Given the description of an element on the screen output the (x, y) to click on. 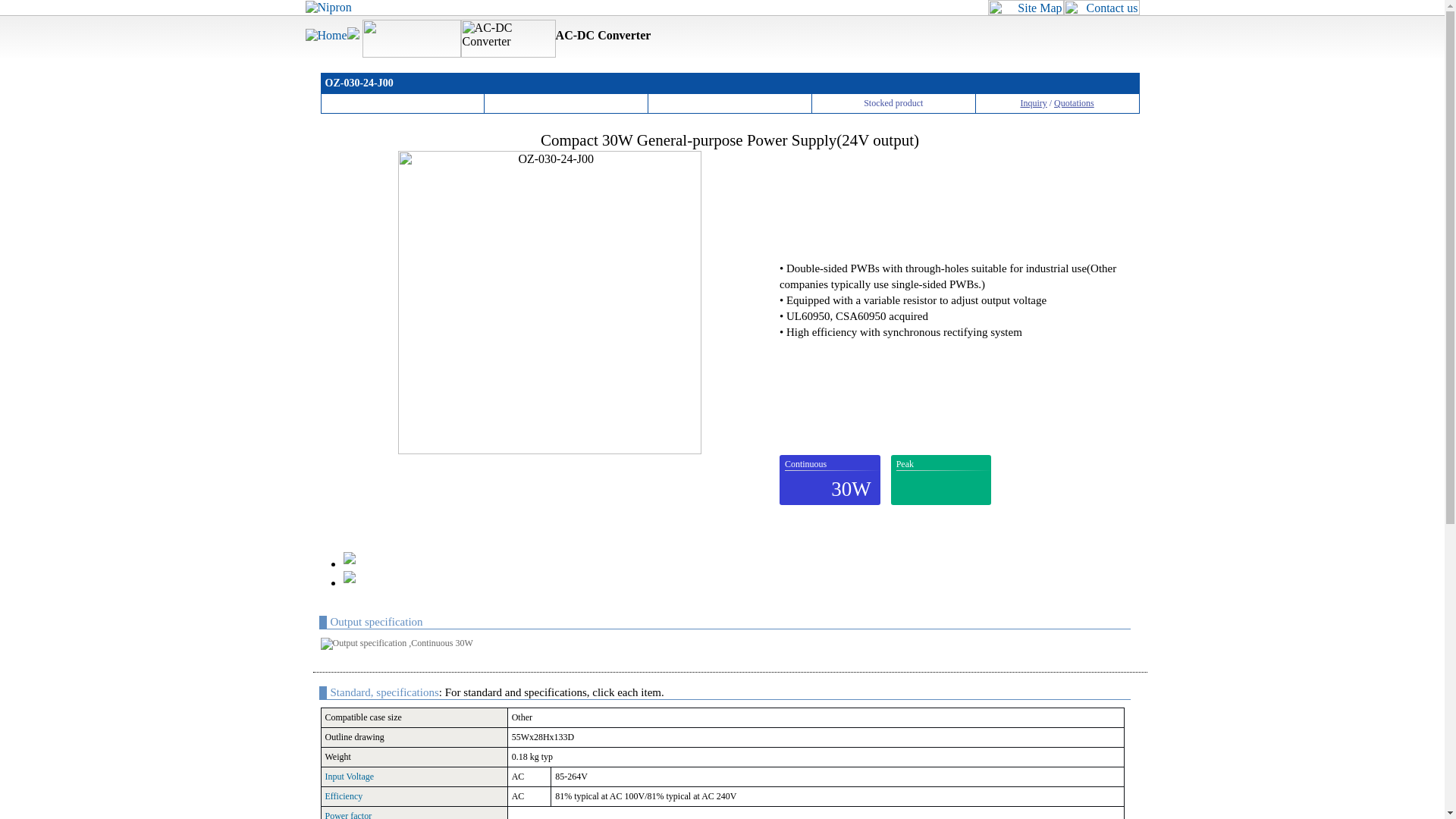
Inquiry (1033, 102)
Power factor (347, 814)
Efficiency (343, 796)
Input Voltage (349, 776)
Quotations (1074, 102)
